Given the description of an element on the screen output the (x, y) to click on. 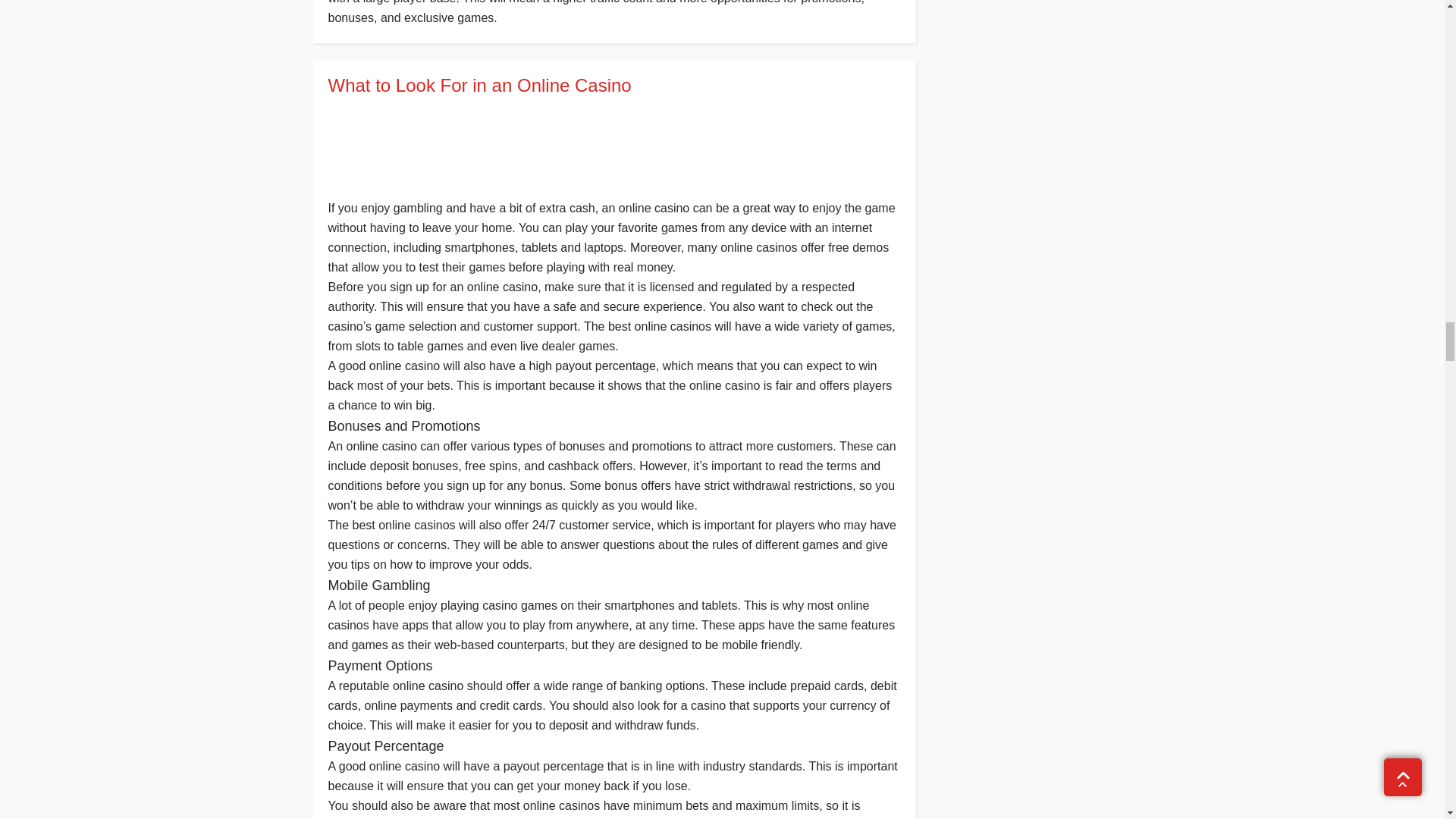
What to Look For in an Online Casino (613, 85)
